Given the description of an element on the screen output the (x, y) to click on. 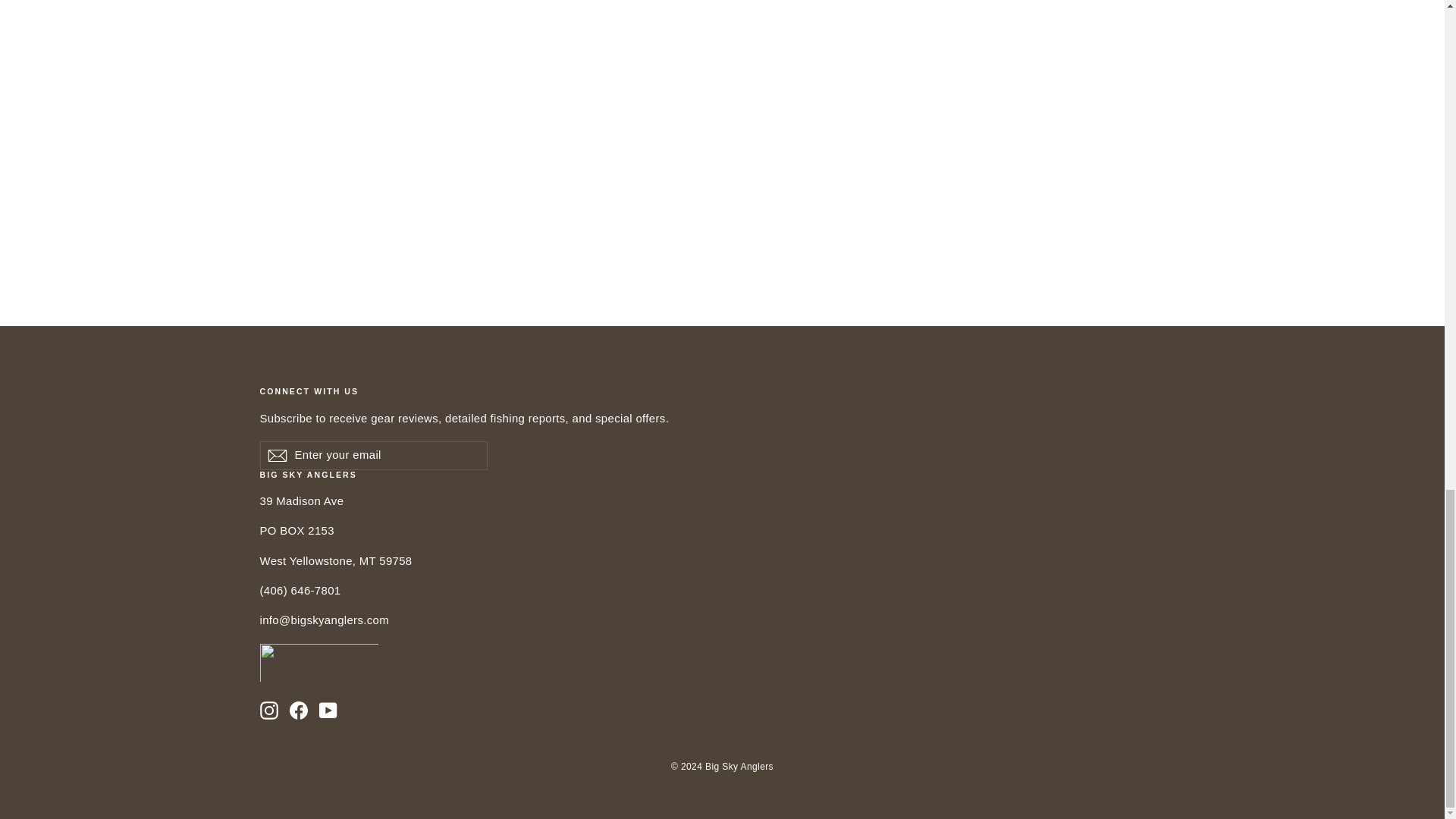
Big Sky Anglers on Instagram (268, 710)
Big Sky Anglers on Facebook (298, 710)
Big Sky Anglers on YouTube (327, 710)
